Given the description of an element on the screen output the (x, y) to click on. 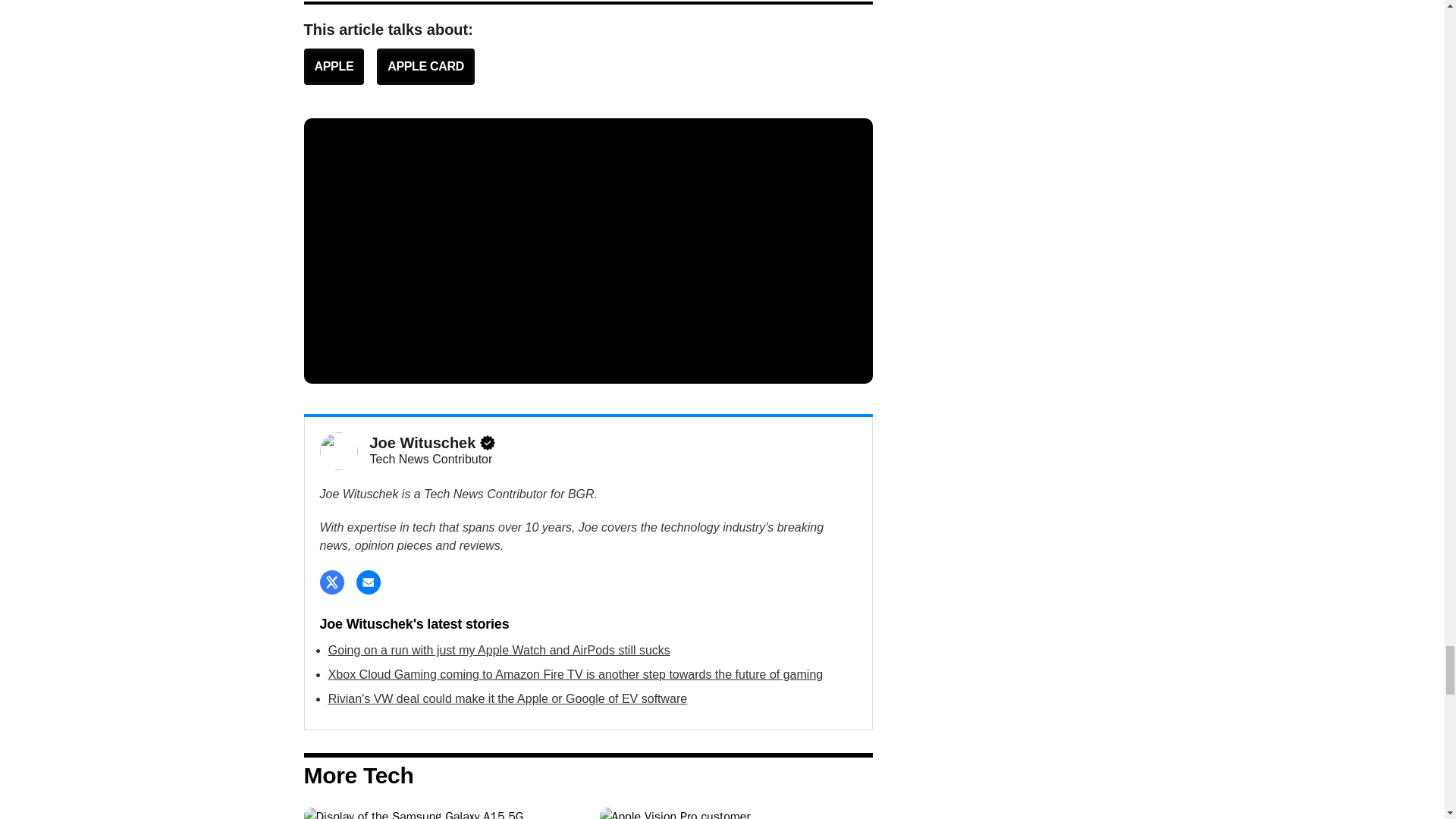
Android malware (439, 813)
